Given the description of an element on the screen output the (x, y) to click on. 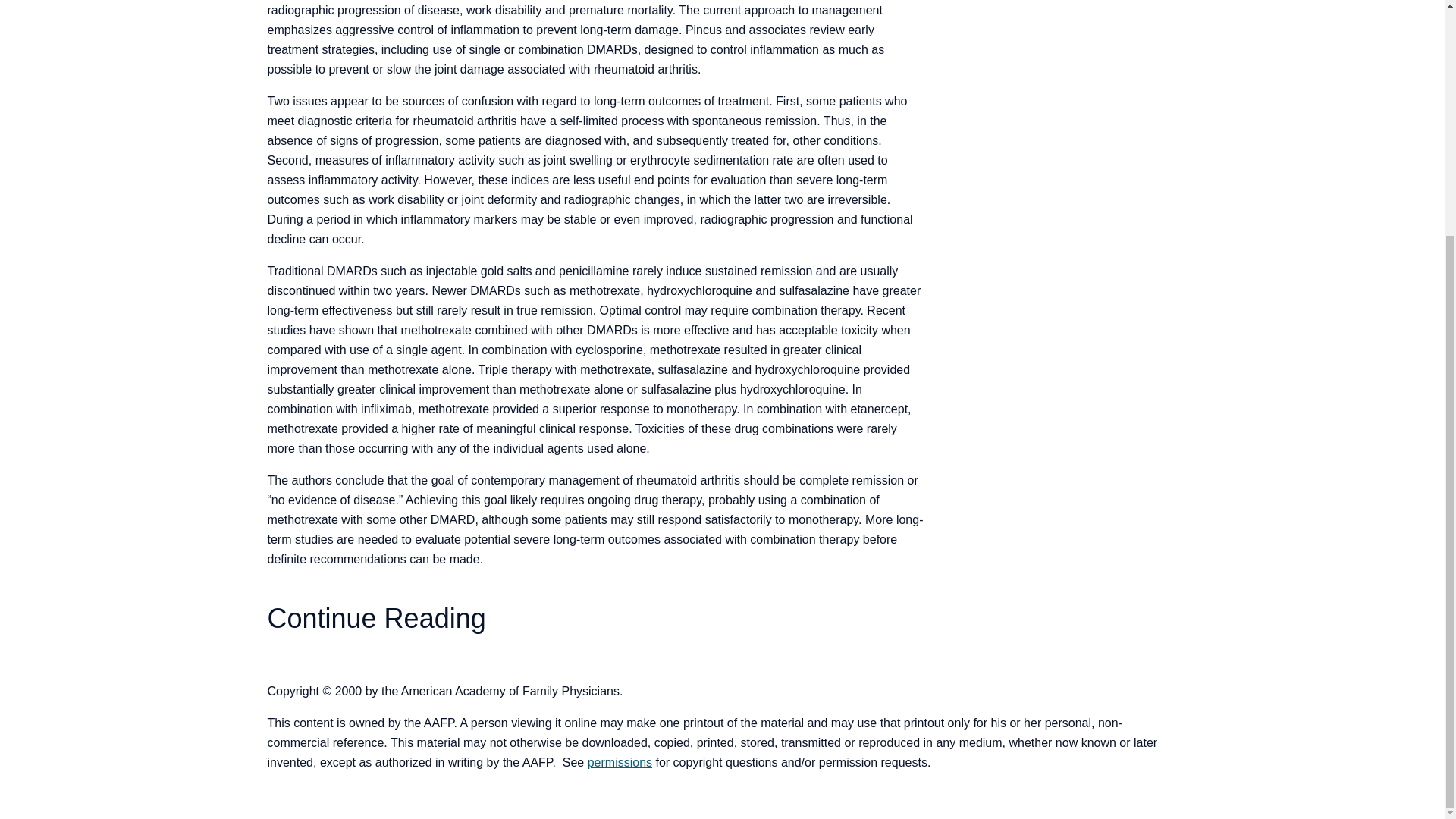
permissions (620, 762)
